Given the description of an element on the screen output the (x, y) to click on. 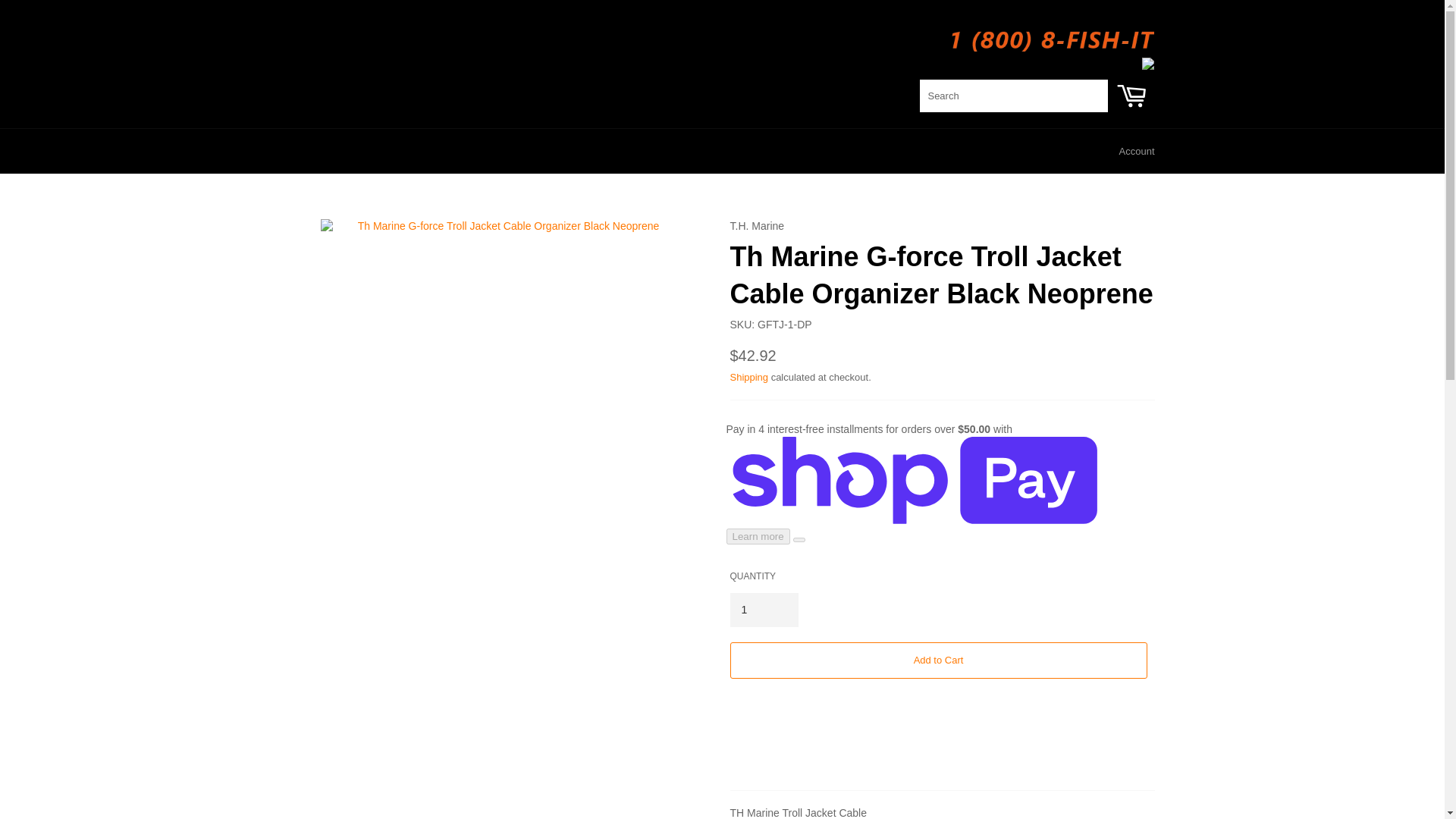
Shipping (748, 377)
Add to Cart (938, 660)
Account (1136, 151)
1 (763, 609)
Cart (1131, 101)
